Given the description of an element on the screen output the (x, y) to click on. 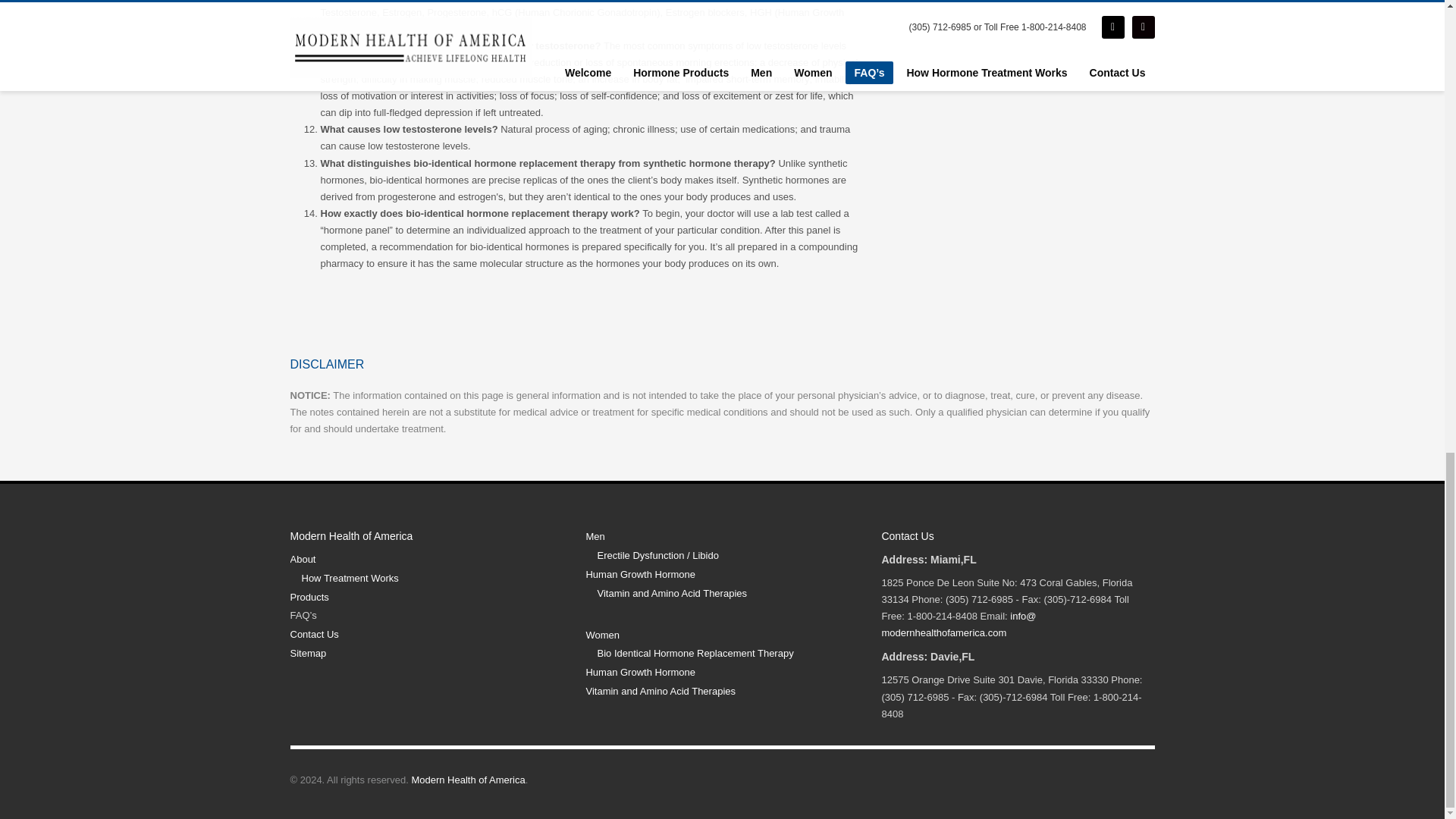
About (425, 560)
Contact Us (425, 634)
Men (722, 537)
Women (722, 635)
Products (425, 597)
Sitemap (425, 653)
Human Growth Hormone (722, 672)
Bio Identical Hormone Replacement Therapy (727, 653)
How Treatment Works (432, 578)
Human Growth Hormone (722, 575)
Vitamin and Amino Acid Therapies (727, 593)
